Given the description of an element on the screen output the (x, y) to click on. 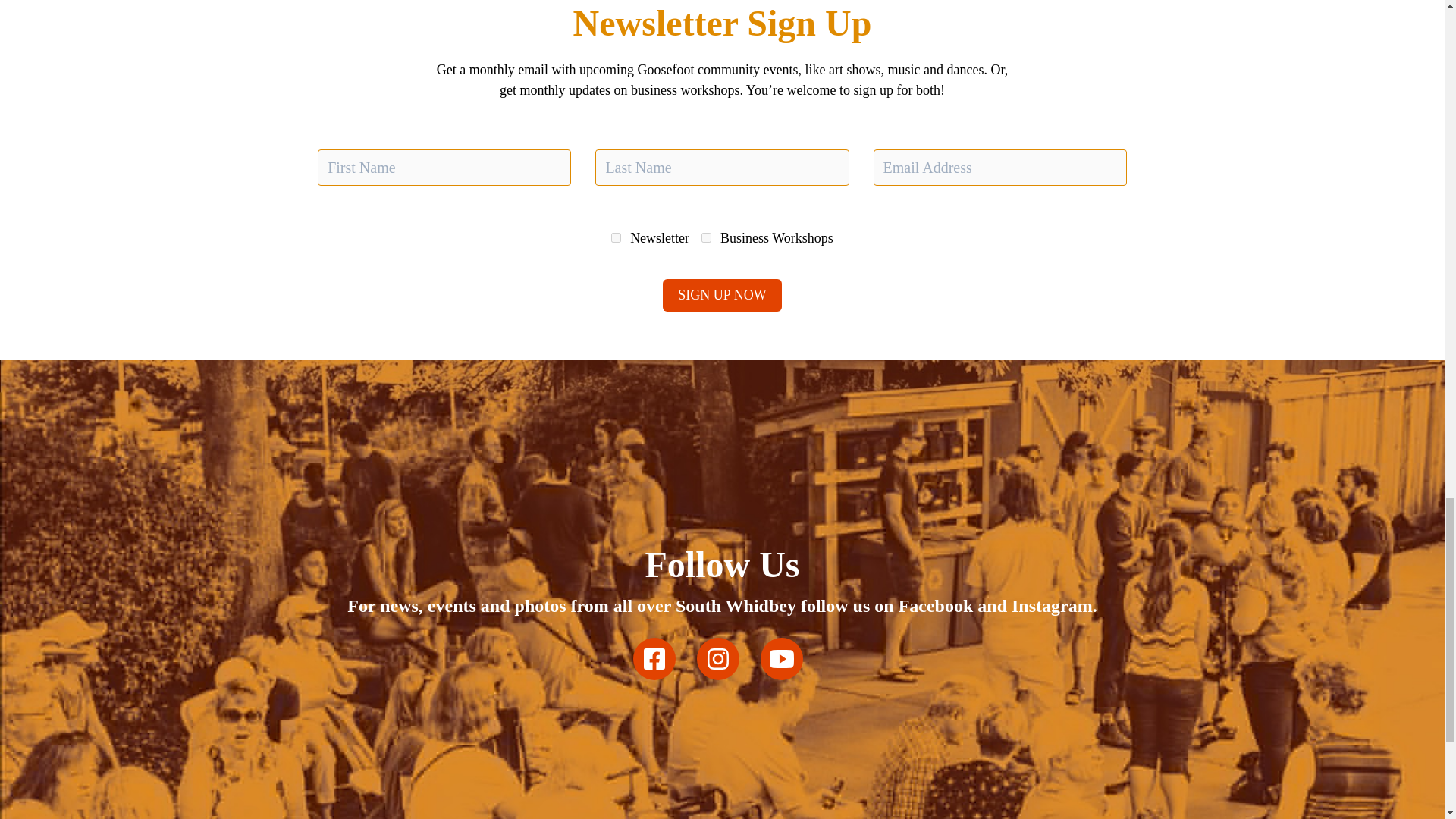
Newsletter (616, 237)
Sign Up Now (721, 295)
Business Workshops (706, 237)
